Given the description of an element on the screen output the (x, y) to click on. 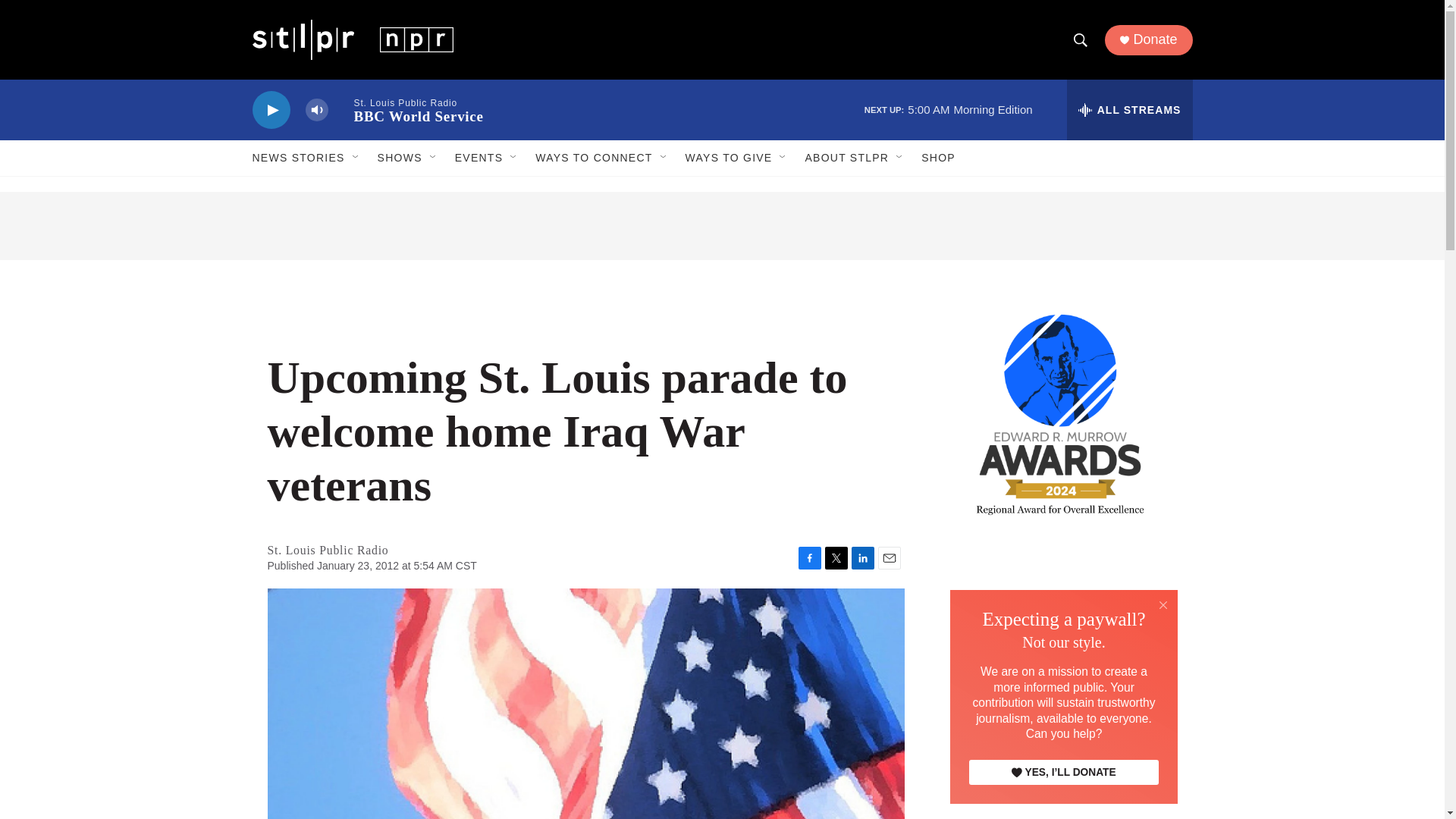
3rd party ad content (1062, 797)
3rd party ad content (721, 225)
Close (1162, 604)
3rd party ad content (1062, 650)
Close (1162, 605)
